Given the description of an element on the screen output the (x, y) to click on. 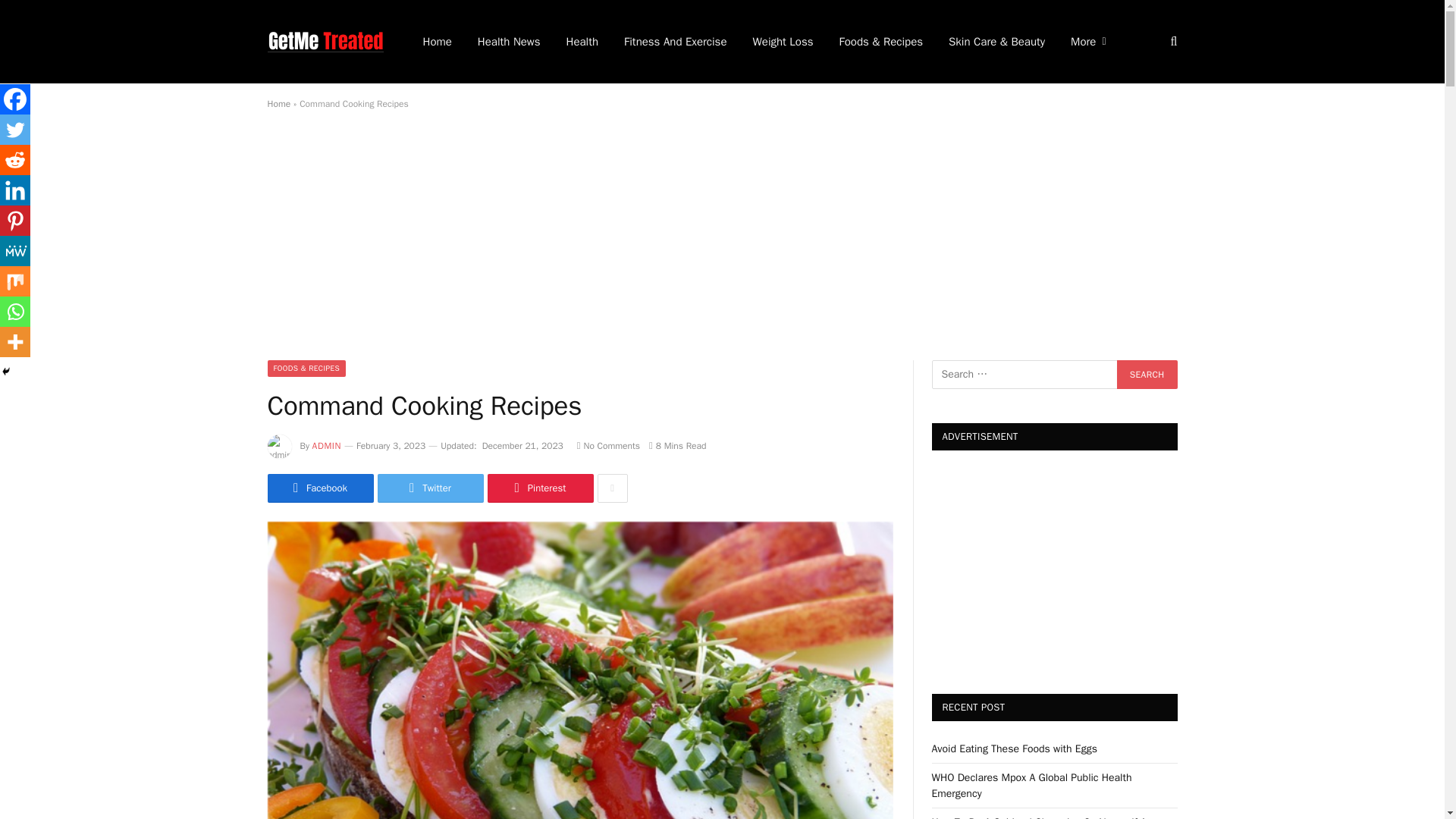
Weight Loss (783, 41)
Fitness And Exercise (675, 41)
Facebook (319, 488)
Search (1146, 374)
Health News (508, 41)
Share on Facebook (319, 488)
Home (277, 103)
Search (1146, 374)
Share on Pinterest (539, 488)
Pinterest (539, 488)
